Given the description of an element on the screen output the (x, y) to click on. 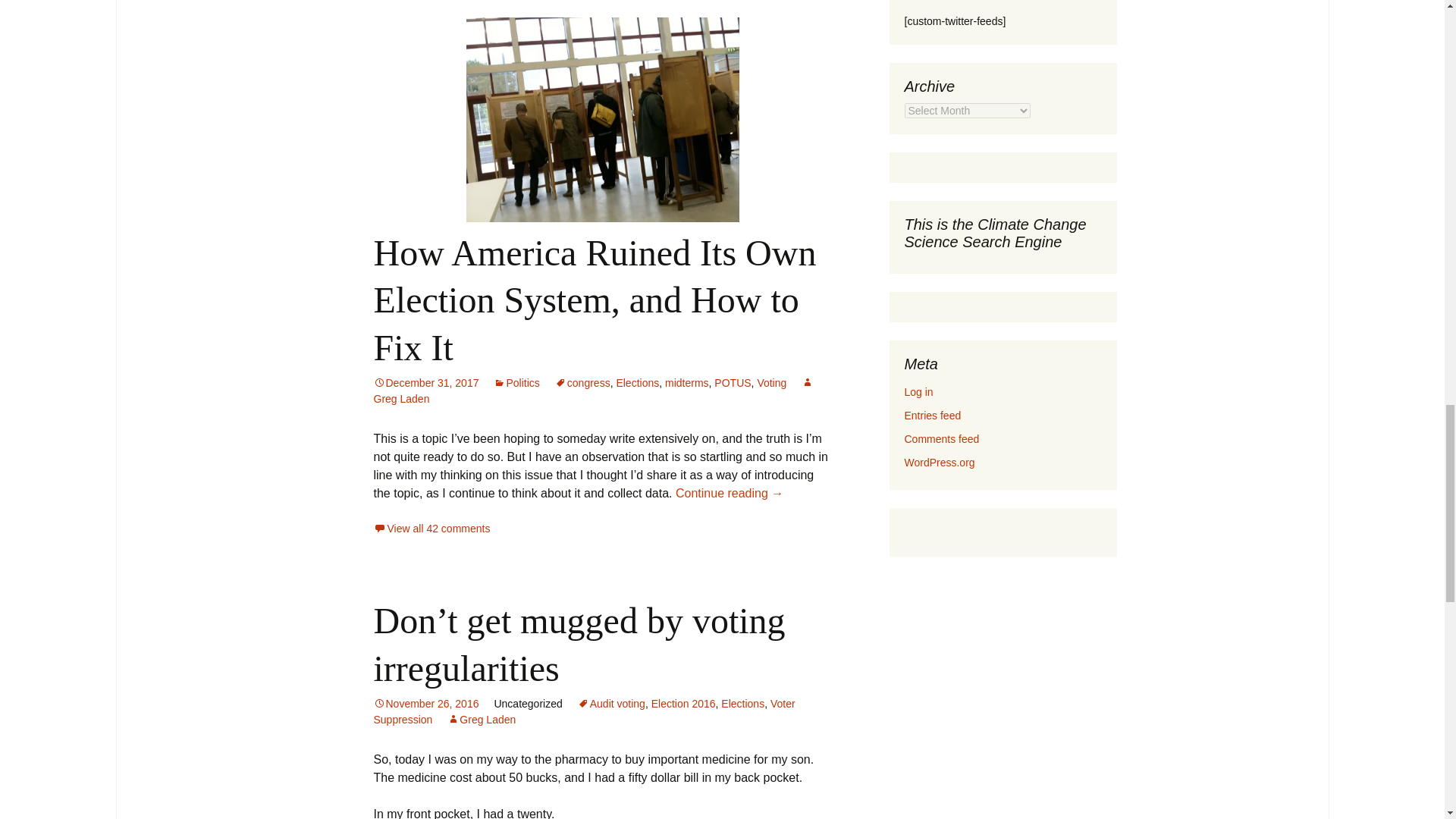
Audit voting (611, 703)
View all posts by Greg Laden (592, 390)
midterms (687, 382)
Election 2016 (683, 703)
Elections (637, 382)
POTUS (732, 382)
View all 42 comments (430, 528)
November 26, 2016 (425, 703)
Voting (771, 382)
